Given the description of an element on the screen output the (x, y) to click on. 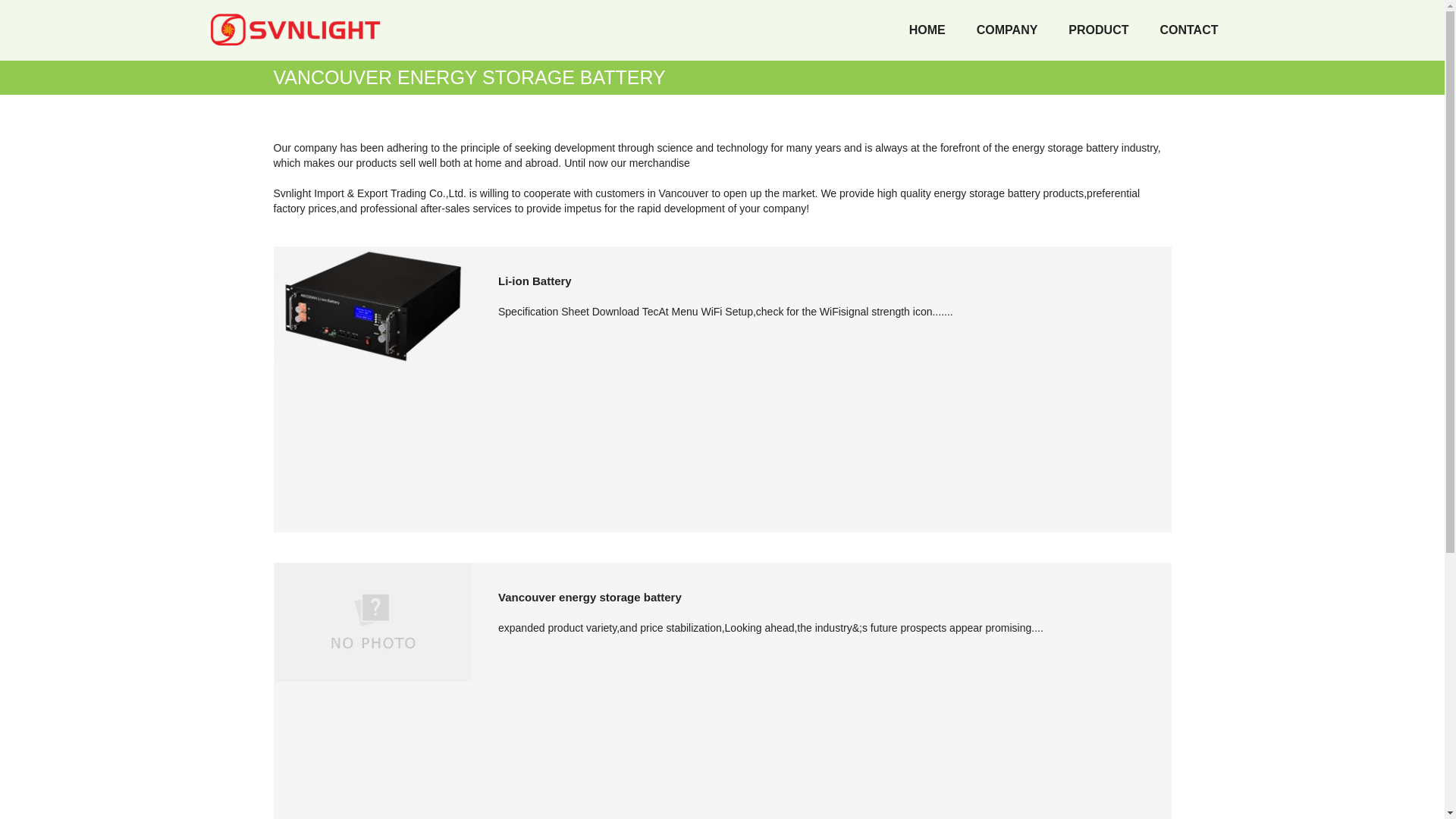
CONTACT (1188, 30)
energy storage battery (987, 193)
PRODUCT (1097, 30)
COMPANY (1006, 30)
HOME (926, 30)
